Given the description of an element on the screen output the (x, y) to click on. 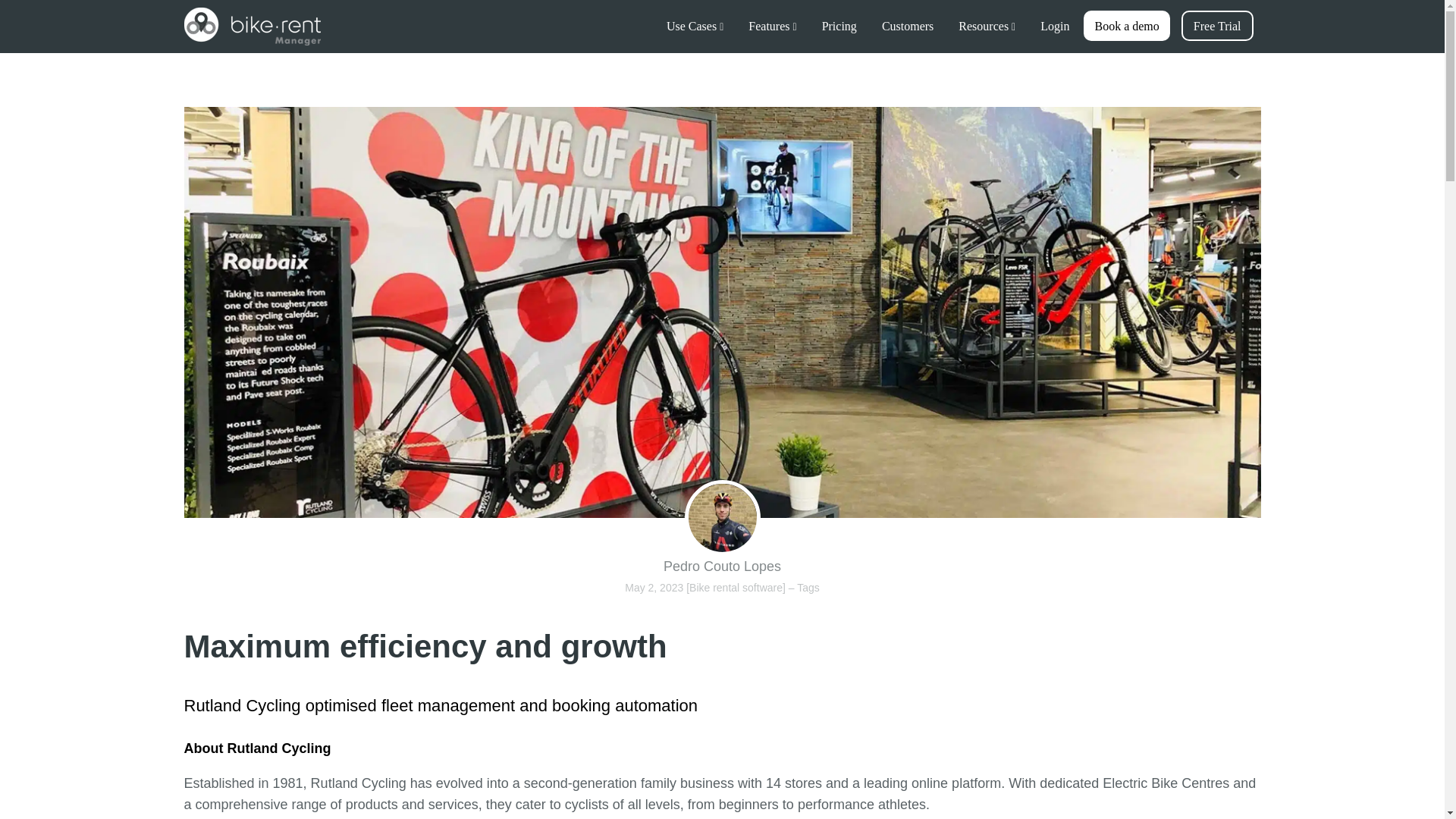
Features (772, 26)
Customers (906, 26)
Use Cases (694, 26)
Pricing (838, 26)
Resources (986, 26)
